Given the description of an element on the screen output the (x, y) to click on. 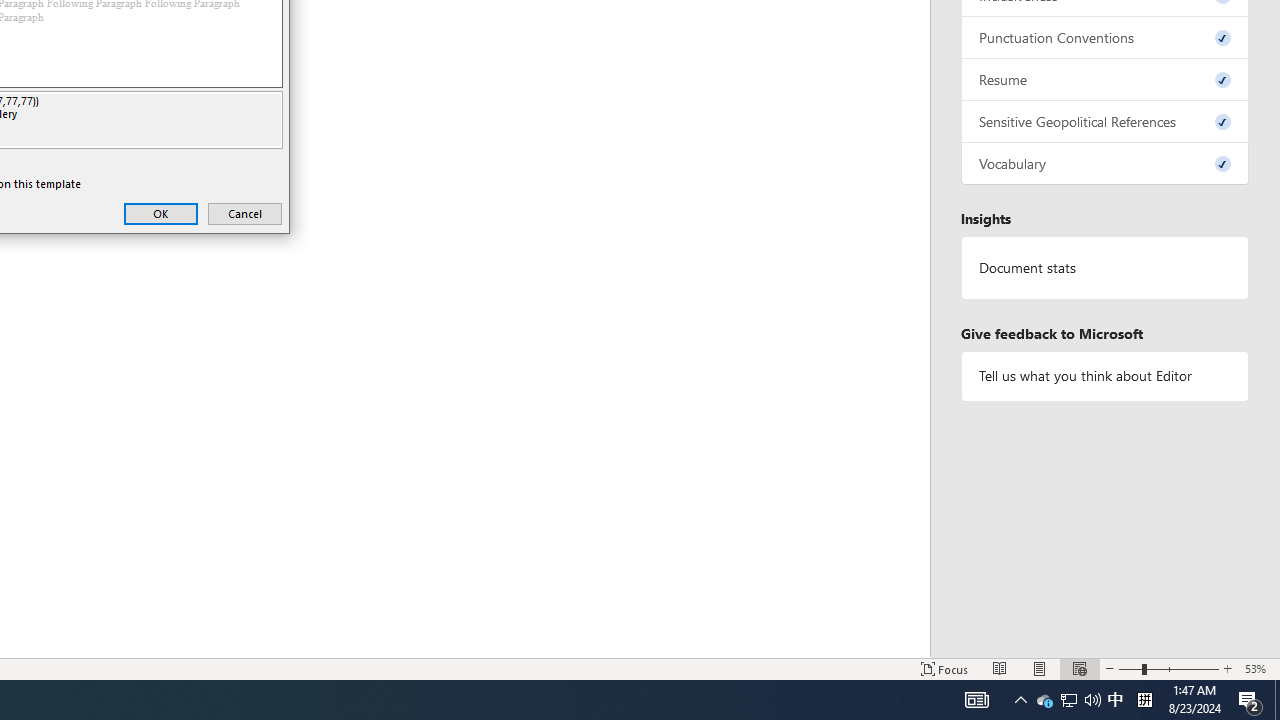
Zoom 53% (1069, 699)
Resume, 0 issues. Press space or enter to review items. (1258, 668)
Tray Input Indicator - Chinese (Simplified, China) (1105, 79)
User Promoted Notification Area (1115, 699)
